Given the description of an element on the screen output the (x, y) to click on. 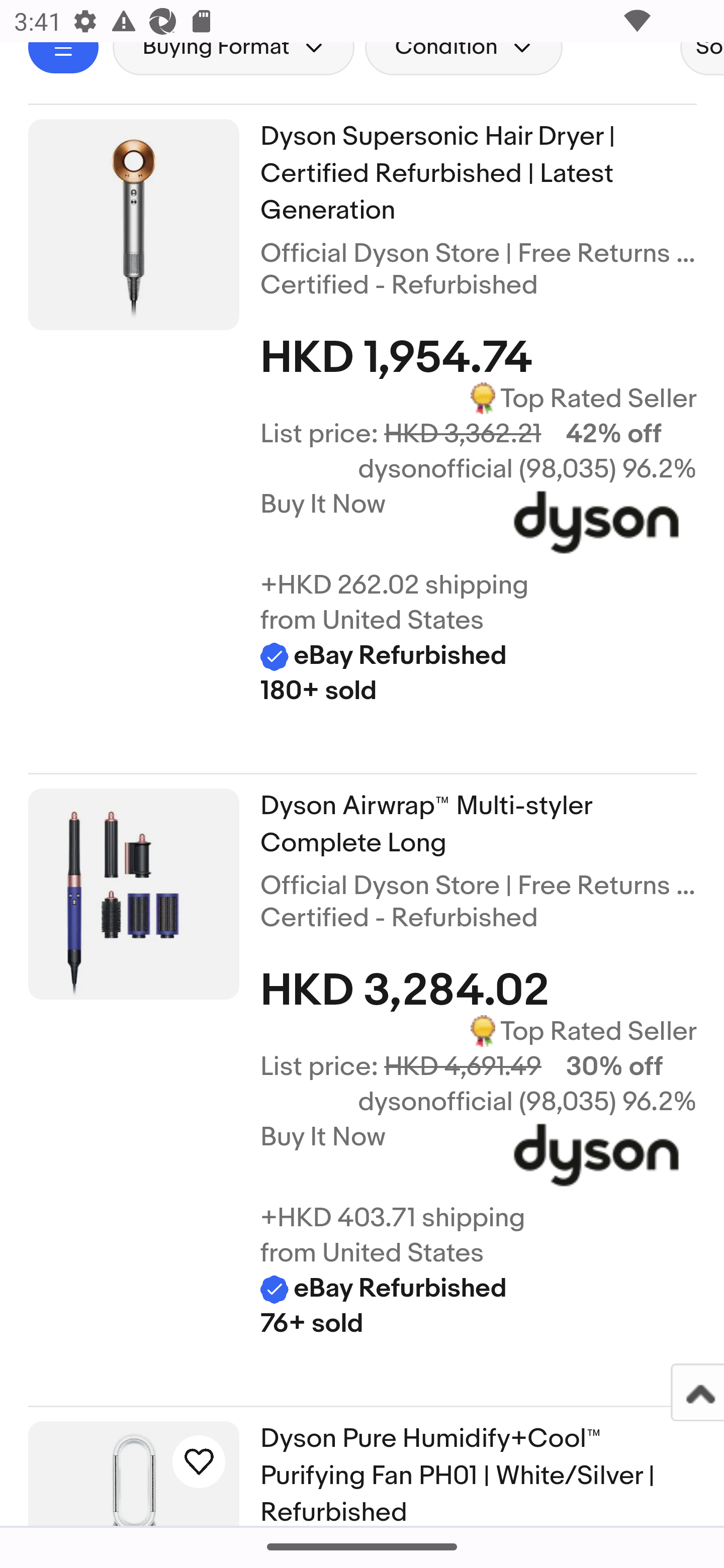
Visit dysonofficial eBay Store! (596, 527)
Visit dysonofficial eBay Store! (596, 1160)
Scroll to top (696, 1392)
